Given the description of an element on the screen output the (x, y) to click on. 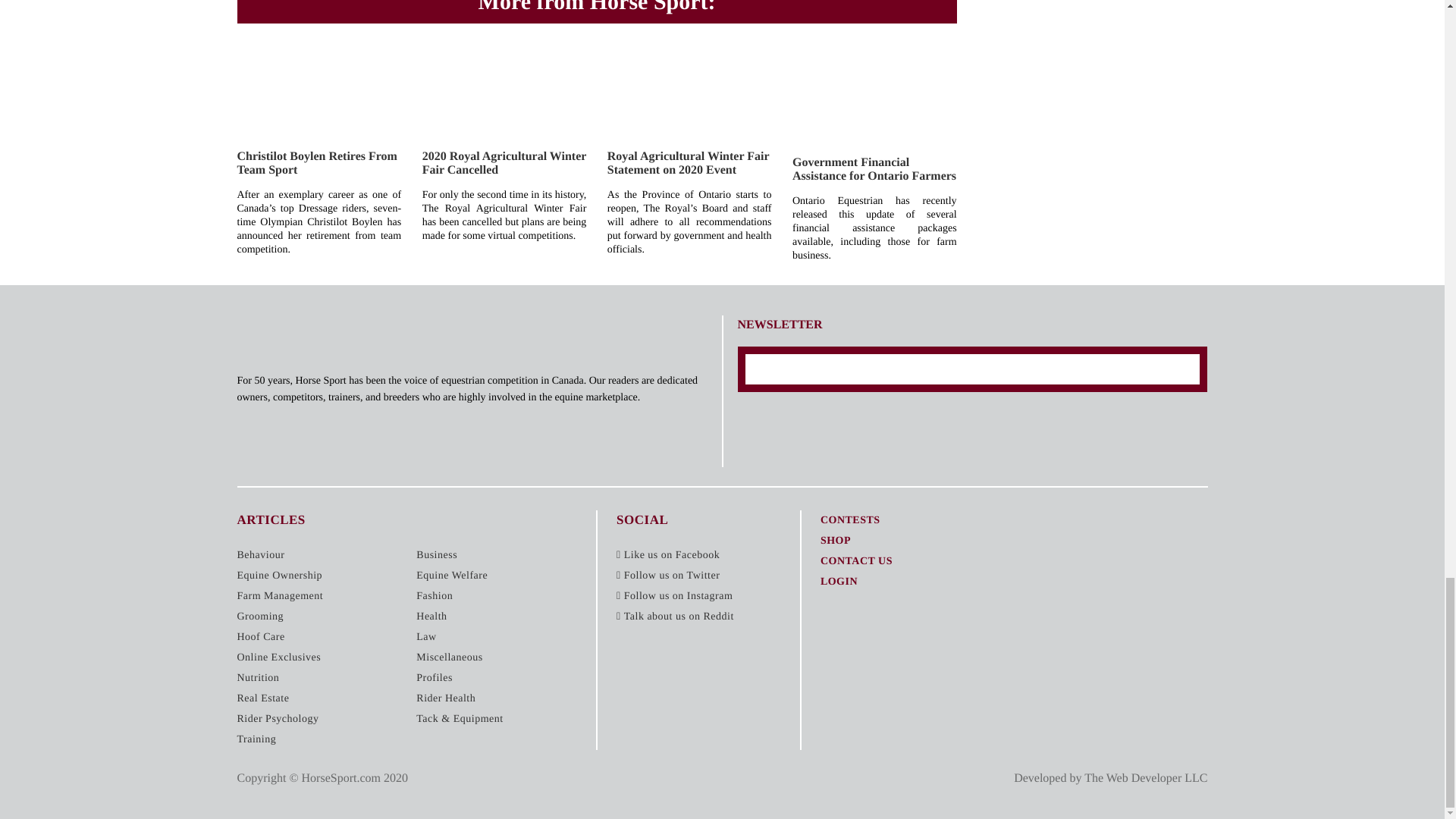
Royal Agricultural Winter Fair Statement on 2020 Event (687, 162)
2020 Royal Agricultural Winter Fair Cancelled (504, 162)
Christilot Boylen Retires From Team Sport (315, 162)
